Given the description of an element on the screen output the (x, y) to click on. 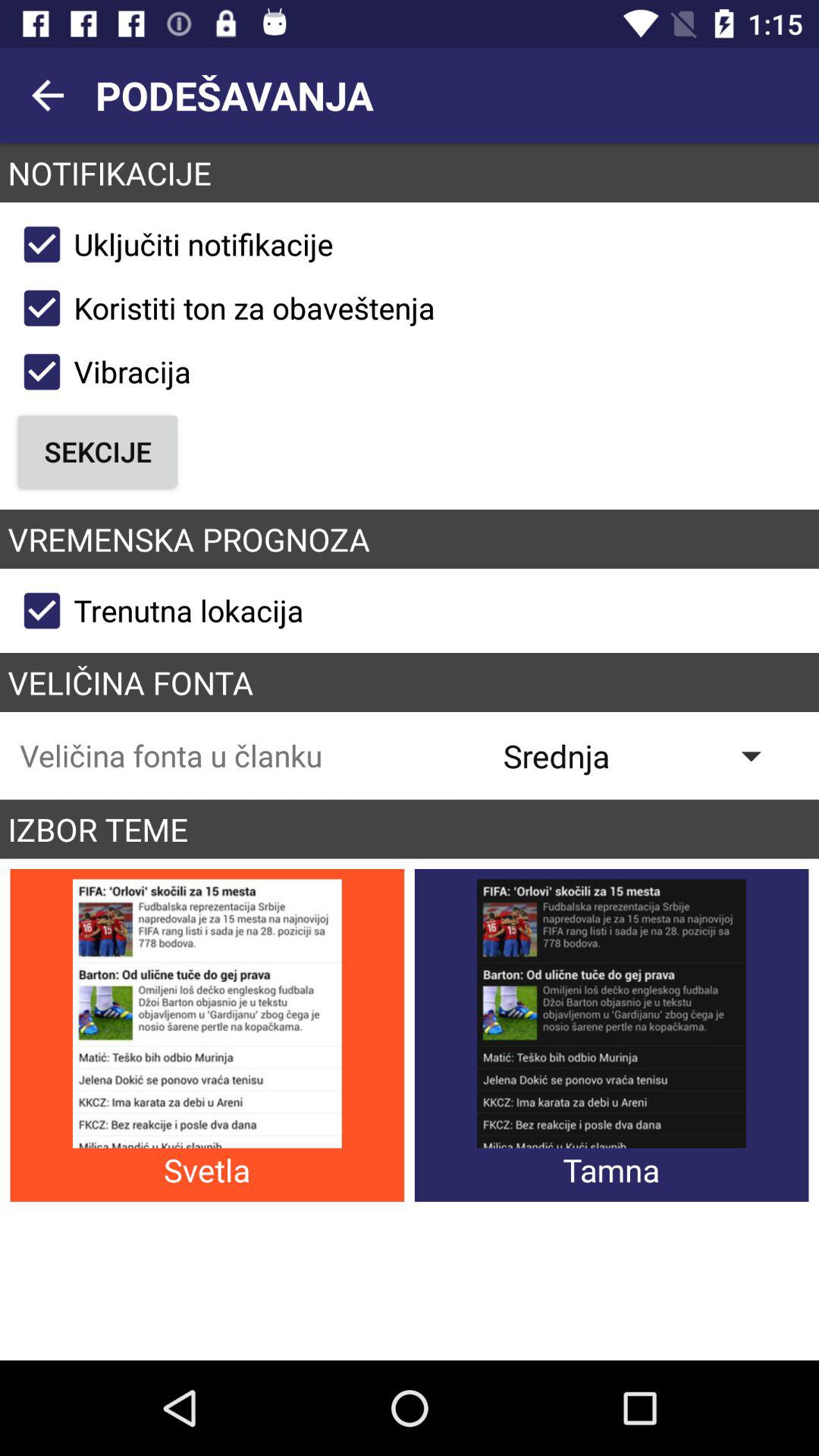
click item above the vremenska prognoza (97, 451)
